Given the description of an element on the screen output the (x, y) to click on. 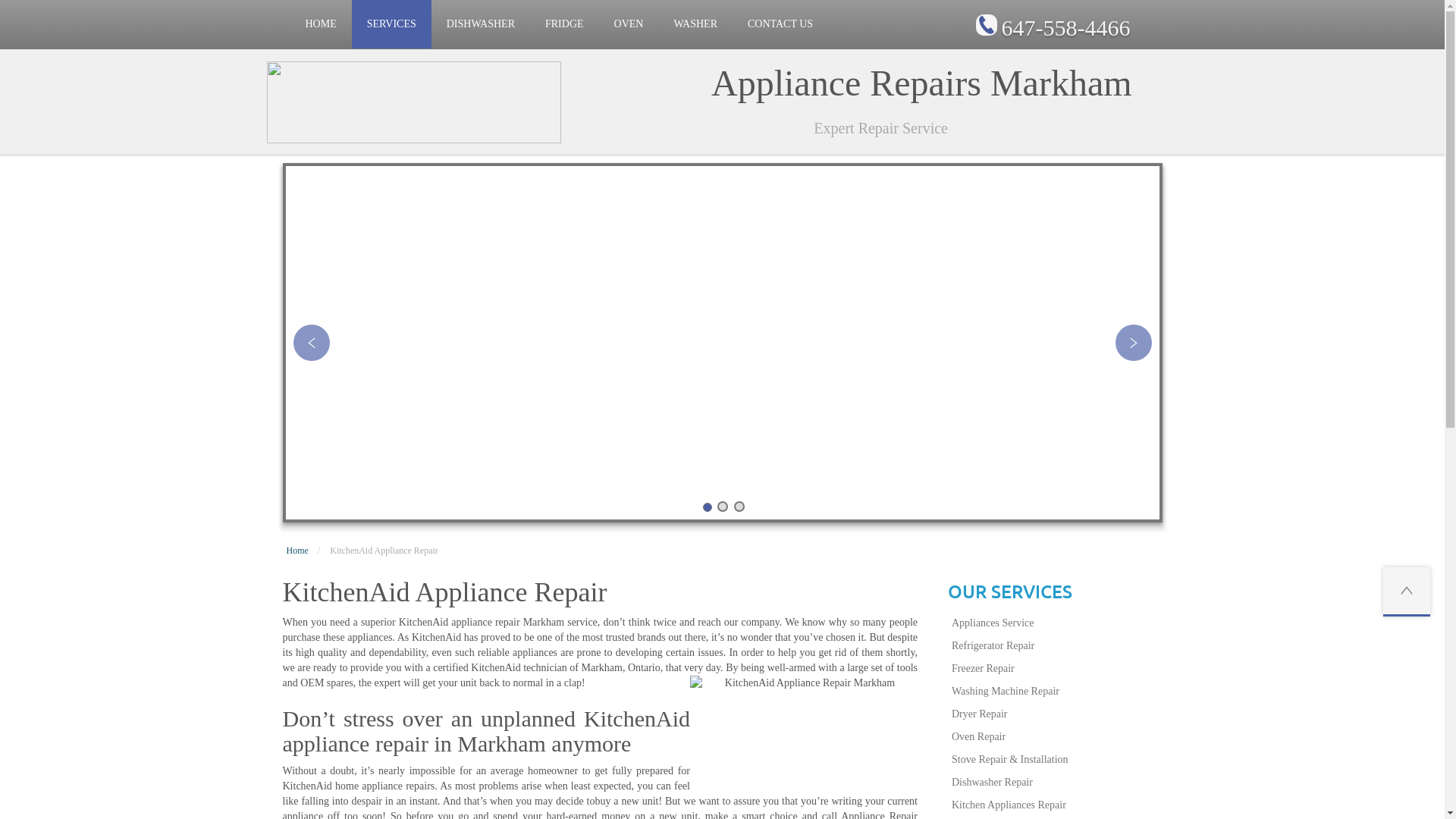
FRIDGE Element type: text (564, 23)
SERVICES Element type: text (391, 24)
647-558-4466 Element type: text (1065, 27)
Refrigerator Repair Element type: text (1054, 645)
Freezer Repair Element type: text (1054, 668)
Stove Repair & Installation Element type: text (1054, 759)
OVEN Element type: text (628, 23)
Washing Machine Repair Element type: text (1054, 691)
Oven Repair Element type: text (1054, 736)
CONTACT US Element type: text (780, 23)
Kitchen Appliances Repair Element type: text (1054, 804)
Home Element type: text (297, 550)
DISHWASHER Element type: text (480, 23)
Dishwasher Repair Element type: text (1054, 782)
HOME Element type: text (320, 23)
WASHER Element type: text (695, 23)
Appliances Service Element type: text (1054, 622)
Dryer Repair Element type: text (1054, 713)
